Given the description of an element on the screen output the (x, y) to click on. 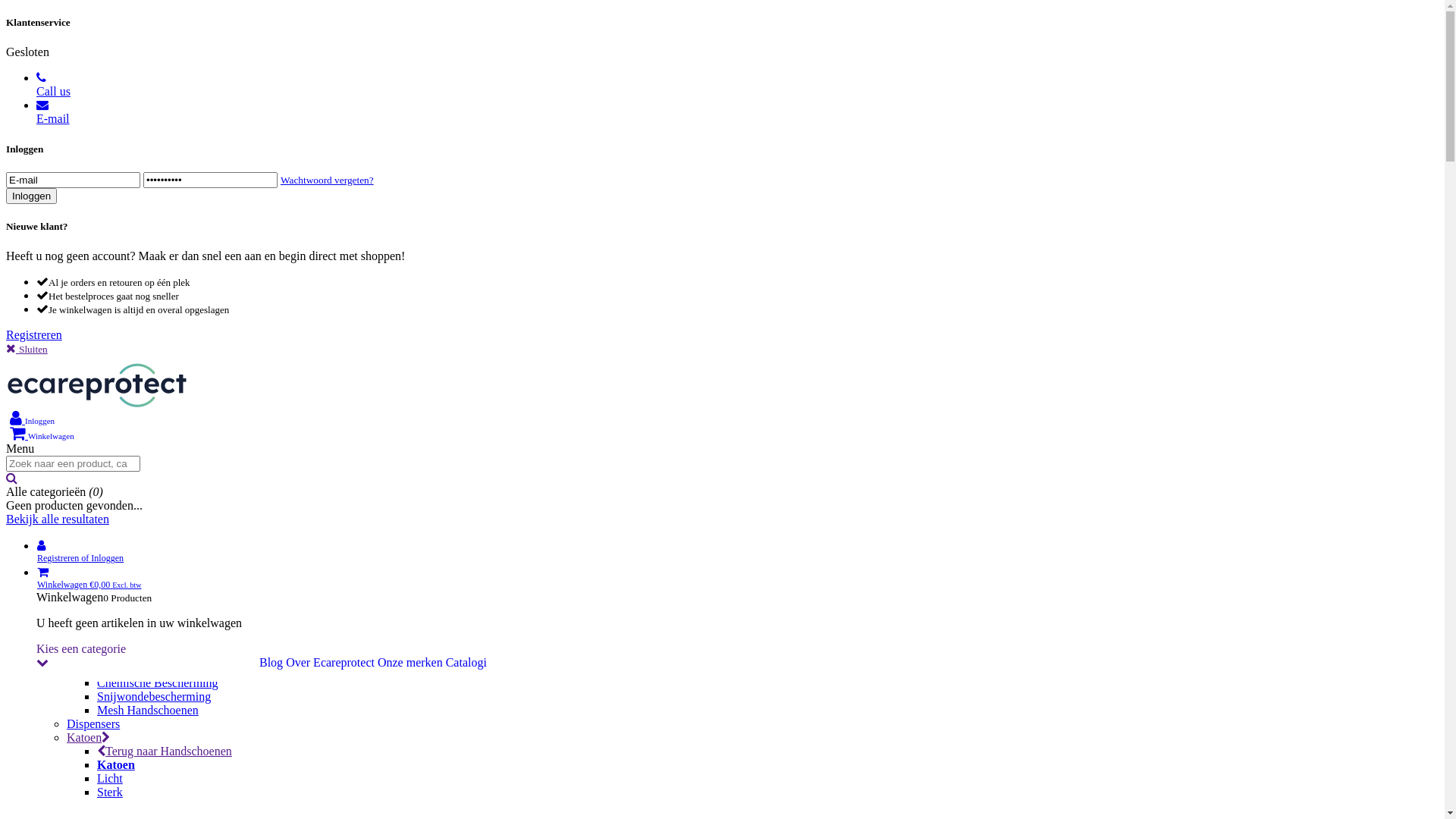
Registreren of Inloggen Element type: text (743, 551)
Nitril Element type: text (110, 423)
Ecareprotect Element type: hover (98, 404)
Tape & Sportpleisters Element type: text (149, 291)
Werkhandschoenen Element type: text (752, 491)
Inloggen Element type: text (31, 419)
Sport Element type: text (752, 237)
Katoen Element type: text (115, 764)
Terug naar Handschoenen Element type: text (164, 627)
Sterk Element type: text (109, 791)
Inloggen Element type: text (31, 195)
Licht Element type: text (109, 777)
Wachtwoord vergeten? Element type: text (326, 178)
Wegwerp Element type: text (121, 409)
Terug naar EHBO / FIRST AID Element type: text (178, 250)
Testkits Element type: text (752, 209)
PU-coating Element type: text (124, 545)
Windsels & Verbanden Element type: text (752, 155)
Latex Element type: text (110, 436)
Hittebeschermend Element type: text (141, 655)
Navigatie Element type: text (30, 6)
Chemische Bescherming Element type: text (157, 682)
Bekijk alle resultaten Element type: text (57, 518)
Pleisters Element type: text (752, 127)
Mesh Handschoenen Element type: text (147, 709)
Wegwerp Element type: text (752, 382)
Registreren Element type: text (34, 334)
EHBO / FIRST AID Element type: text (737, 59)
Neopreen Element type: text (120, 464)
Nitril-coating Element type: text (130, 532)
Onze merken Element type: text (409, 661)
Oogreiniging Element type: text (752, 182)
Homepage Element type: text (63, 45)
Insecten Element type: text (752, 223)
Terug naar Menu Element type: text (112, 354)
Terug naar Handschoenen Element type: text (164, 395)
Over Ecareprotect Element type: text (329, 661)
PE Handschoenen Element type: text (141, 477)
Snijwondebescherming Element type: text (153, 696)
Handschoenen Element type: text (104, 368)
Fine Knit Element type: text (120, 586)
Terug naar Handschoenen Element type: text (164, 750)
Inrichting & Instrumenten Element type: text (752, 196)
Brandwonden Element type: text (752, 168)
Materiaal & Verzorging Element type: text (154, 304)
Latex-coating Element type: text (130, 559)
EHBO / FIRST AID Element type: text (118, 86)
EHBO-Koffers/Tassen Element type: text (752, 114)
Zoeken Element type: hover (11, 477)
Call us Element type: text (743, 84)
Terug naar Handschoenen Element type: text (164, 504)
E-mail Element type: text (743, 111)
Terug naar Menu Element type: text (112, 72)
Werkhandschoenen Element type: text (148, 518)
Bescherming Element type: text (130, 641)
Katoen Element type: text (752, 737)
Bescherming Element type: text (752, 614)
0
Winkelwagen Element type: text (41, 434)
Leder Element type: text (111, 600)
Verzorging & Ontsmetting Element type: text (752, 141)
Vinyl Element type: text (110, 450)
Kies een categorie Element type: text (140, 655)
Catalogi Element type: text (465, 661)
Dispensers Element type: text (752, 724)
Blog Element type: text (270, 661)
EHBO Voedingsindustrie (HACCP) Element type: text (752, 100)
Koelen & Opwarmen Element type: text (149, 277)
Handschoenen Element type: text (737, 341)
Sluiten Element type: text (26, 348)
Koudebeschermend Element type: text (145, 668)
Sport Element type: text (111, 263)
Met Noppen Element type: text (127, 573)
